Given the description of an element on the screen output the (x, y) to click on. 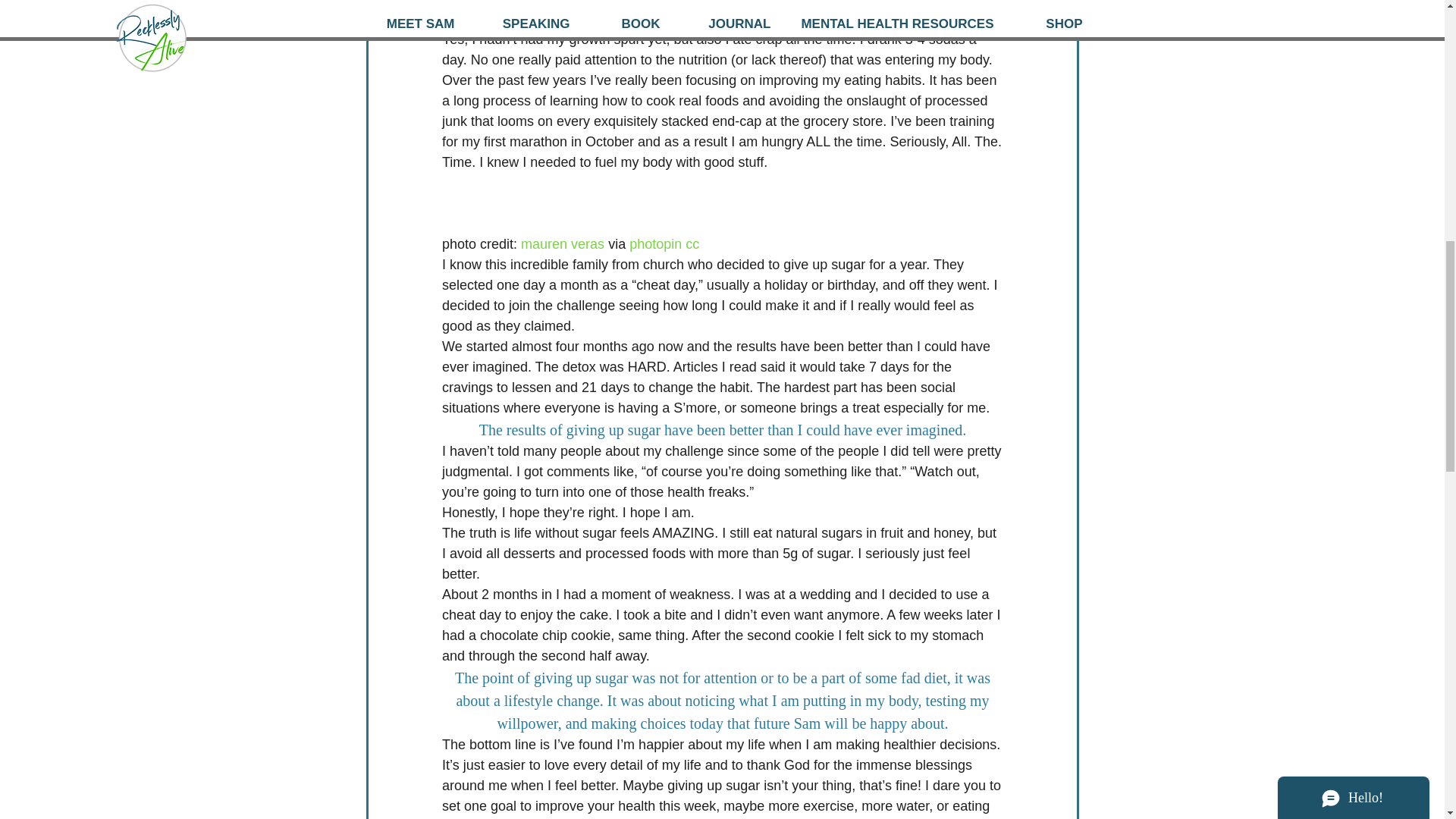
photopin (654, 243)
cc (691, 243)
mauren veras (562, 243)
